Given the description of an element on the screen output the (x, y) to click on. 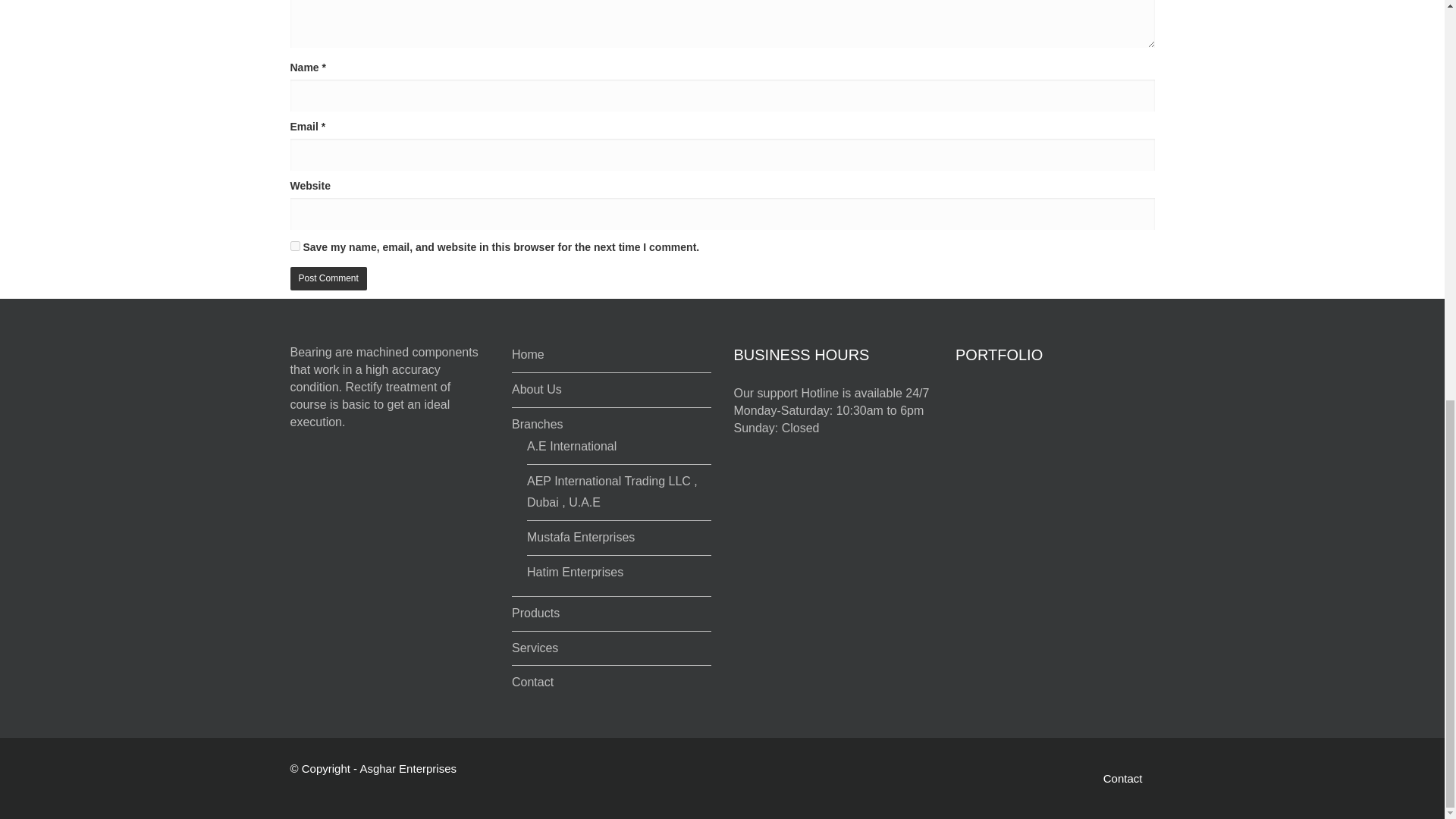
Branches (537, 423)
Post Comment (327, 278)
A.E International (571, 445)
Contact (532, 681)
Products (535, 612)
About Us (537, 389)
Mustafa Enterprises (580, 536)
Services (534, 647)
AEP International Trading LLC , Dubai , U.A.E (612, 492)
Hatim Enterprises (575, 571)
Post Comment (327, 278)
yes (294, 245)
Home (528, 354)
